Given the description of an element on the screen output the (x, y) to click on. 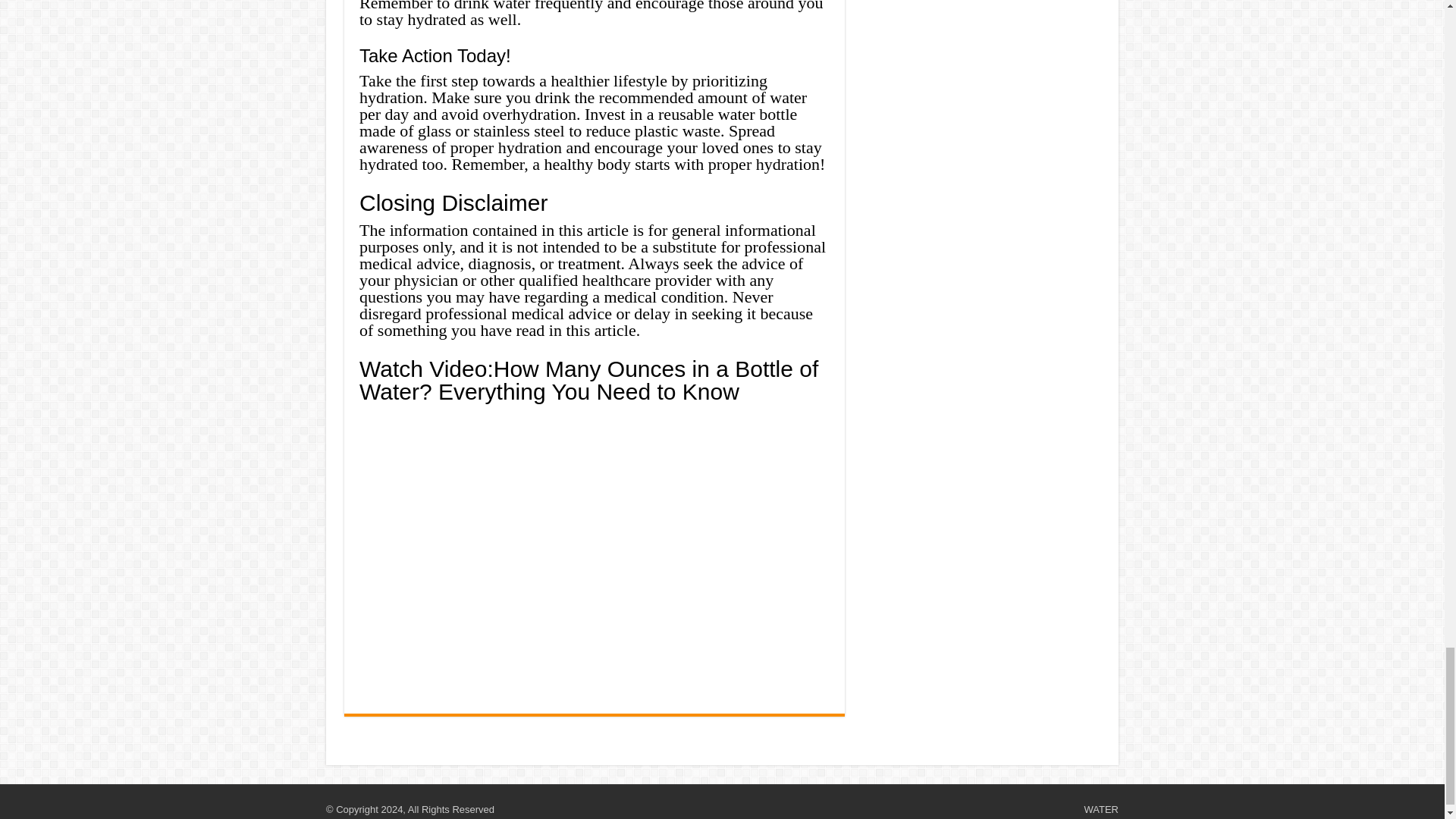
Mikelo! - Water: How much is 8 ounces? (594, 550)
